Given the description of an element on the screen output the (x, y) to click on. 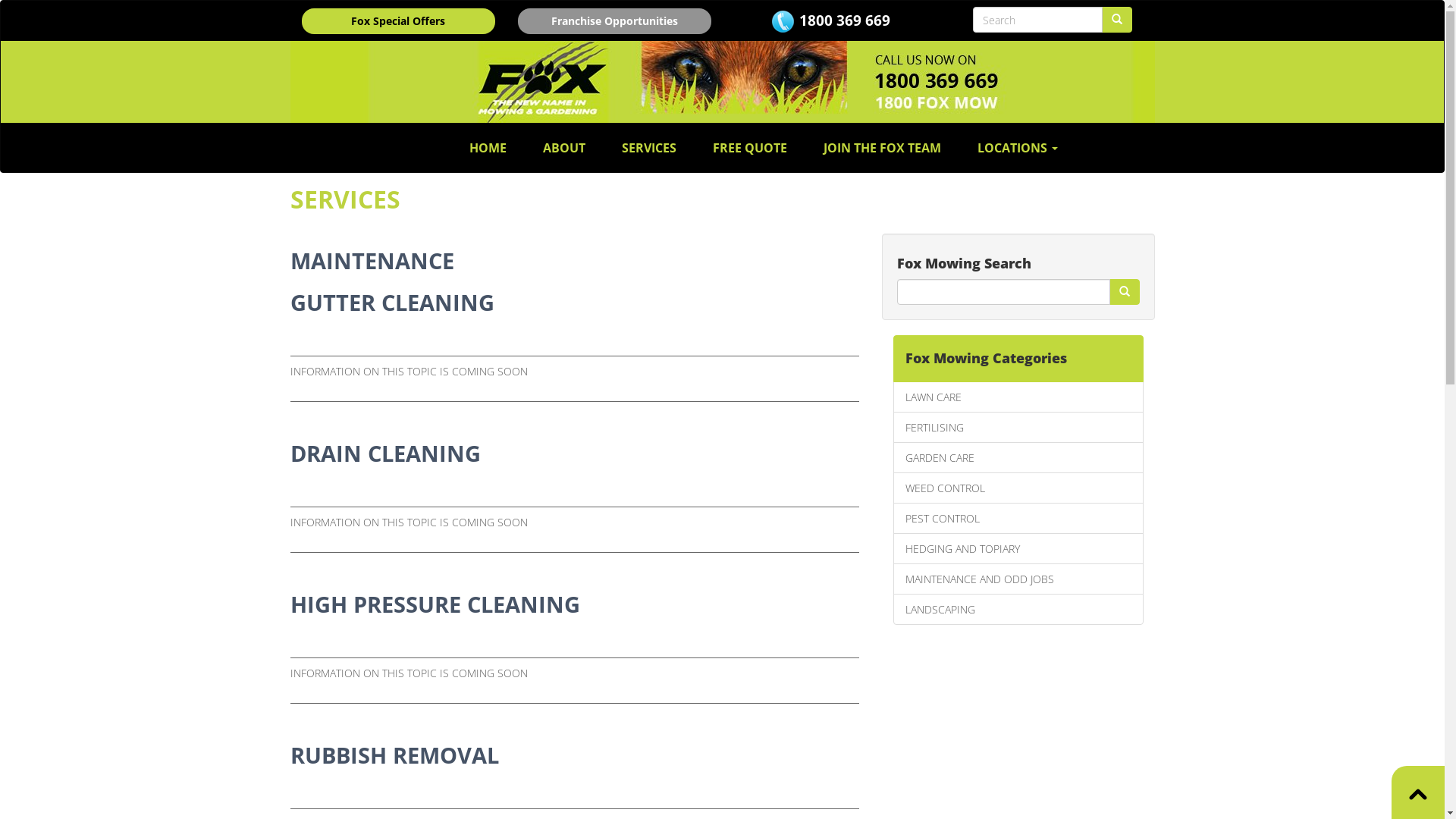
PEST CONTROL Element type: text (1018, 517)
JOIN THE FOX TEAM Element type: text (882, 147)
Foxmowing SA Element type: hover (721, 81)
FERTILISING Element type: text (1018, 426)
SERVICES Element type: text (648, 147)
FREE QUOTE Element type: text (749, 147)
ABOUT Element type: text (563, 147)
Fox Mowing Categories Element type: text (1018, 358)
   Element type: hover (1123, 291)
LANDSCAPING Element type: text (1018, 608)
Franchise Opportunities Element type: text (613, 21)
MAINTENANCE AND ODD JOBS Element type: text (1018, 578)
HOME Element type: text (487, 147)
1800 369 669 Element type: text (844, 20)
Fox Special Offers Element type: text (398, 21)
LAWN CARE Element type: text (1018, 396)
GARDEN CARE Element type: text (1018, 457)
HEDGING AND TOPIARY Element type: text (1018, 548)
LOCATIONS Element type: text (1017, 147)
WEED CONTROL Element type: text (1018, 487)
